Given the description of an element on the screen output the (x, y) to click on. 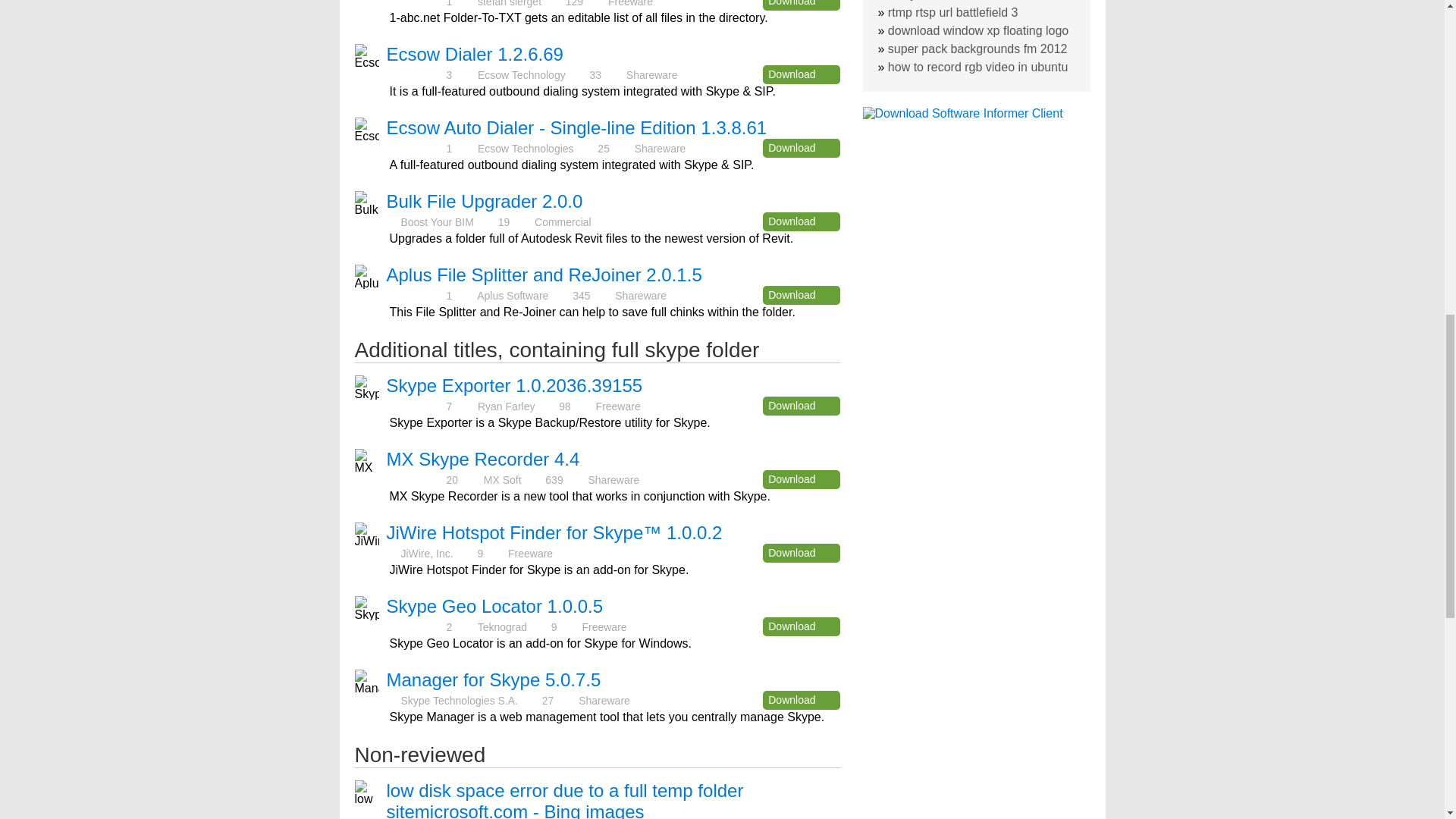
Aplus File Splitter and ReJoiner 2.0.1.5 (544, 274)
1 (415, 148)
Bulk File Upgrader 2.0.0 (485, 200)
Download (801, 552)
Download (801, 294)
4 (415, 2)
Download (801, 221)
Aplus File Splitter and ReJoiner 2.0.1.5 (544, 274)
Ecsow Dialer 1.2.6.69 (475, 54)
Ecsow Auto Dialer - Single-line Edition 1.3.8.61 (577, 127)
Bulk File Upgrader 2.0.0 (485, 200)
Download (801, 148)
MX Skype Recorder 4.4 (483, 458)
5 (415, 295)
Download (801, 405)
